Given the description of an element on the screen output the (x, y) to click on. 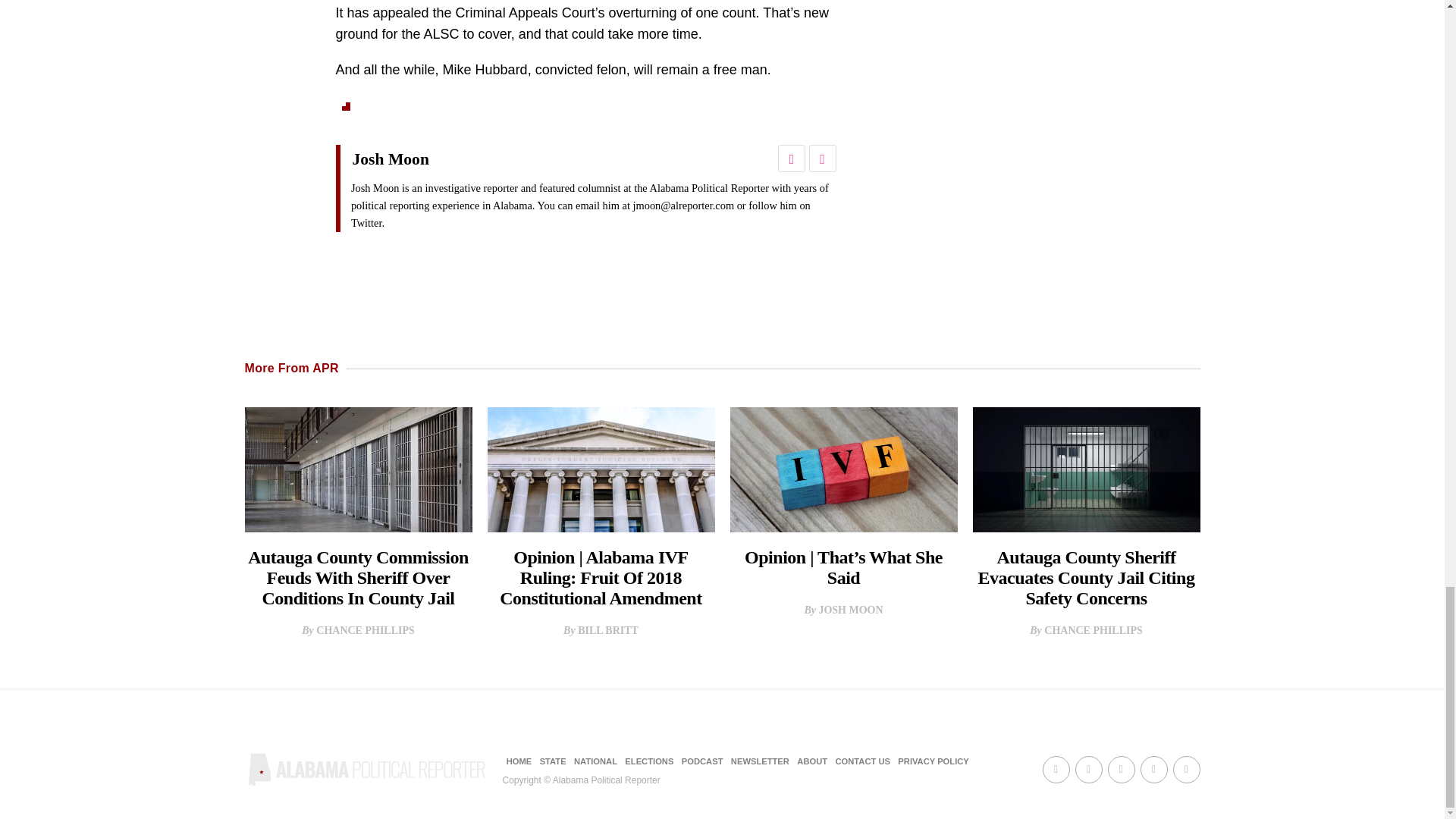
Posts by Josh Moon (850, 609)
Posts by Chance Phillips (364, 630)
Posts by Chance Phillips (1092, 630)
Posts by Bill Britt (608, 630)
